Given the description of an element on the screen output the (x, y) to click on. 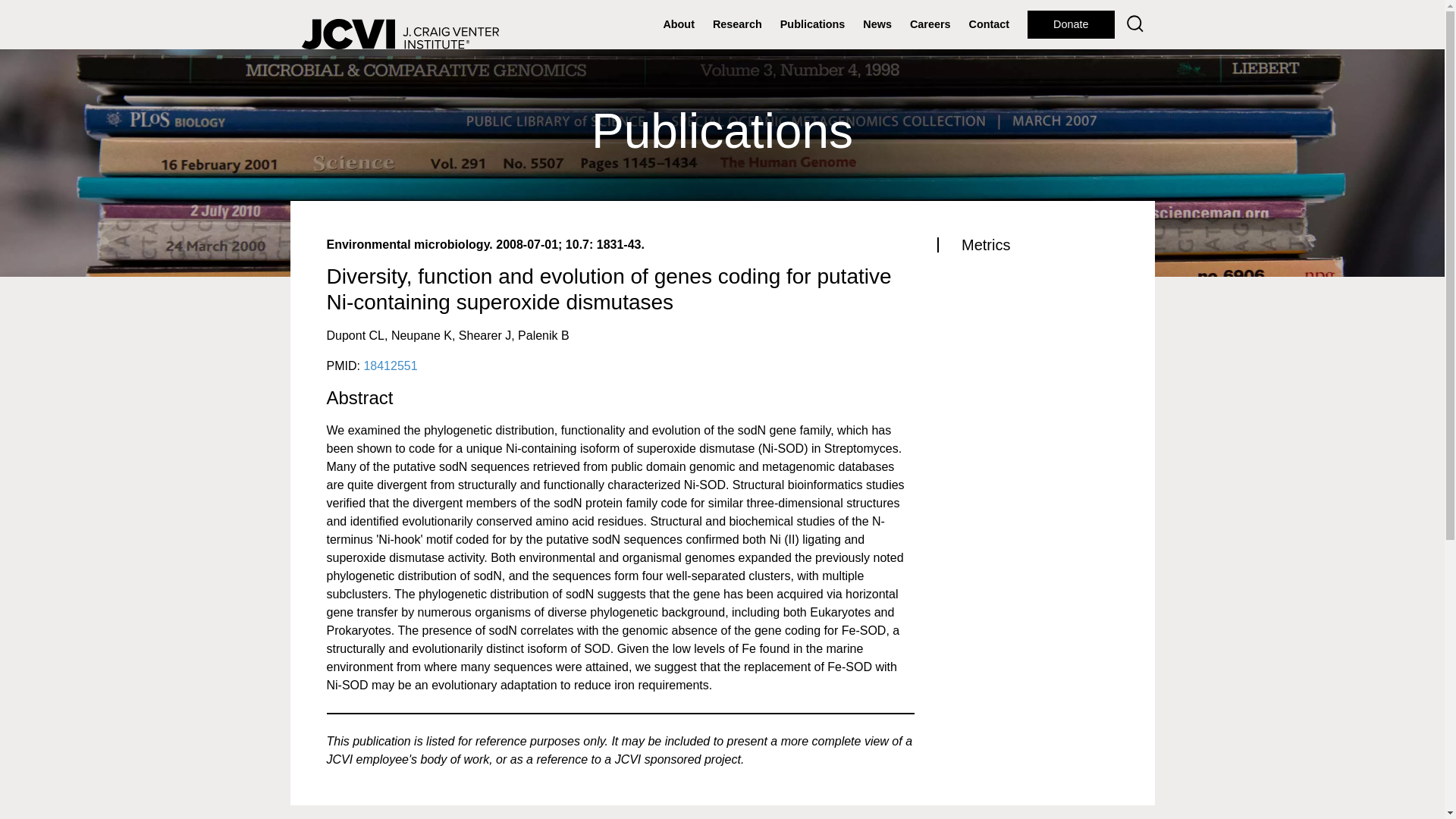
About (678, 24)
Contact (989, 24)
Careers (930, 24)
Donate (1070, 24)
Research (737, 24)
18412551 (389, 365)
Publications (812, 24)
News (877, 24)
